Given the description of an element on the screen output the (x, y) to click on. 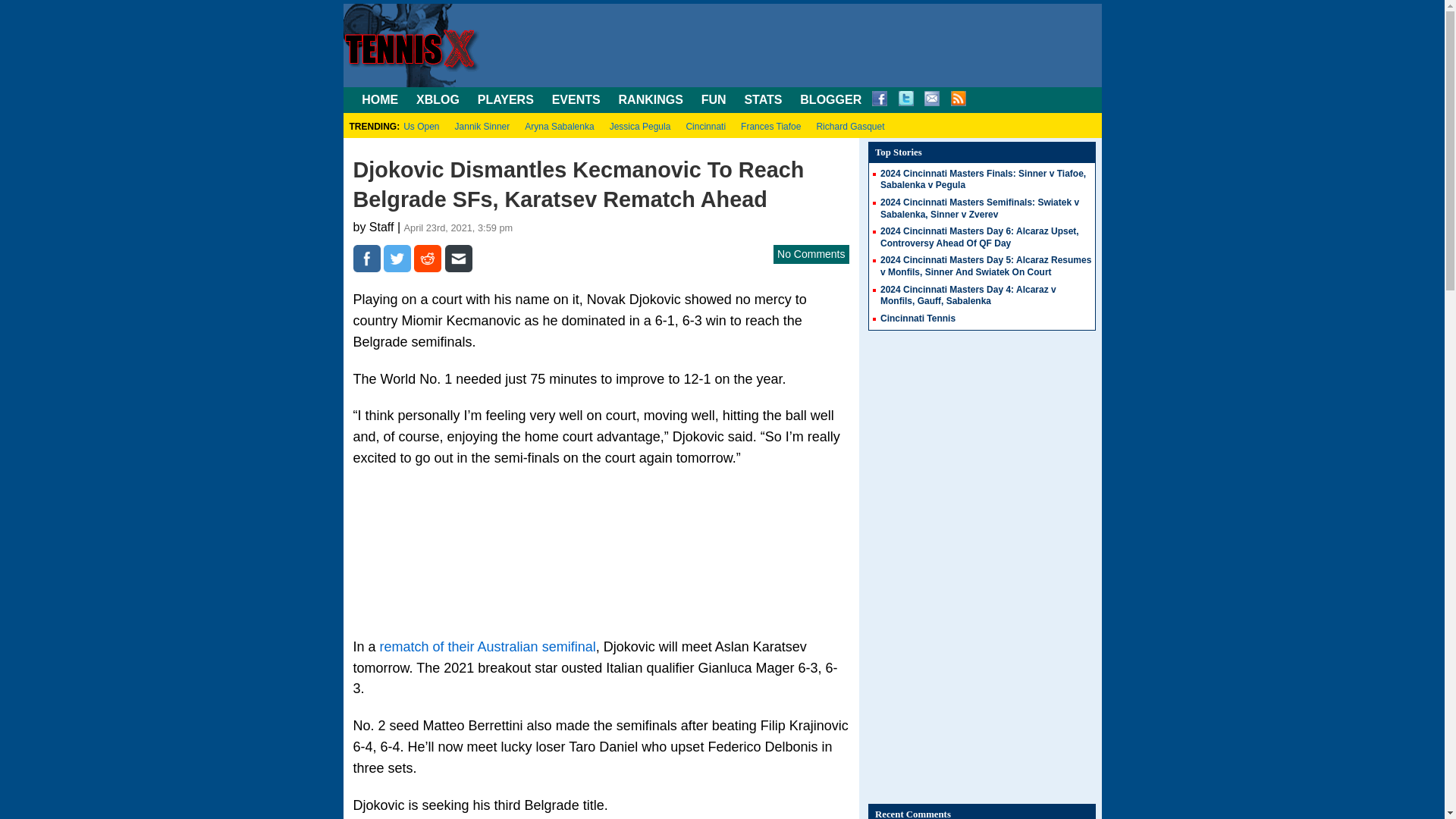
PLAYERS (505, 99)
XBLOG (438, 99)
Frances Tiafoe (770, 126)
Tennis Blogs (830, 99)
Player Information (505, 99)
Advertisement (600, 547)
FUN (713, 99)
Event Information (575, 99)
Tennis Rankings (650, 99)
Jannik Sinner (482, 126)
